Given the description of an element on the screen output the (x, y) to click on. 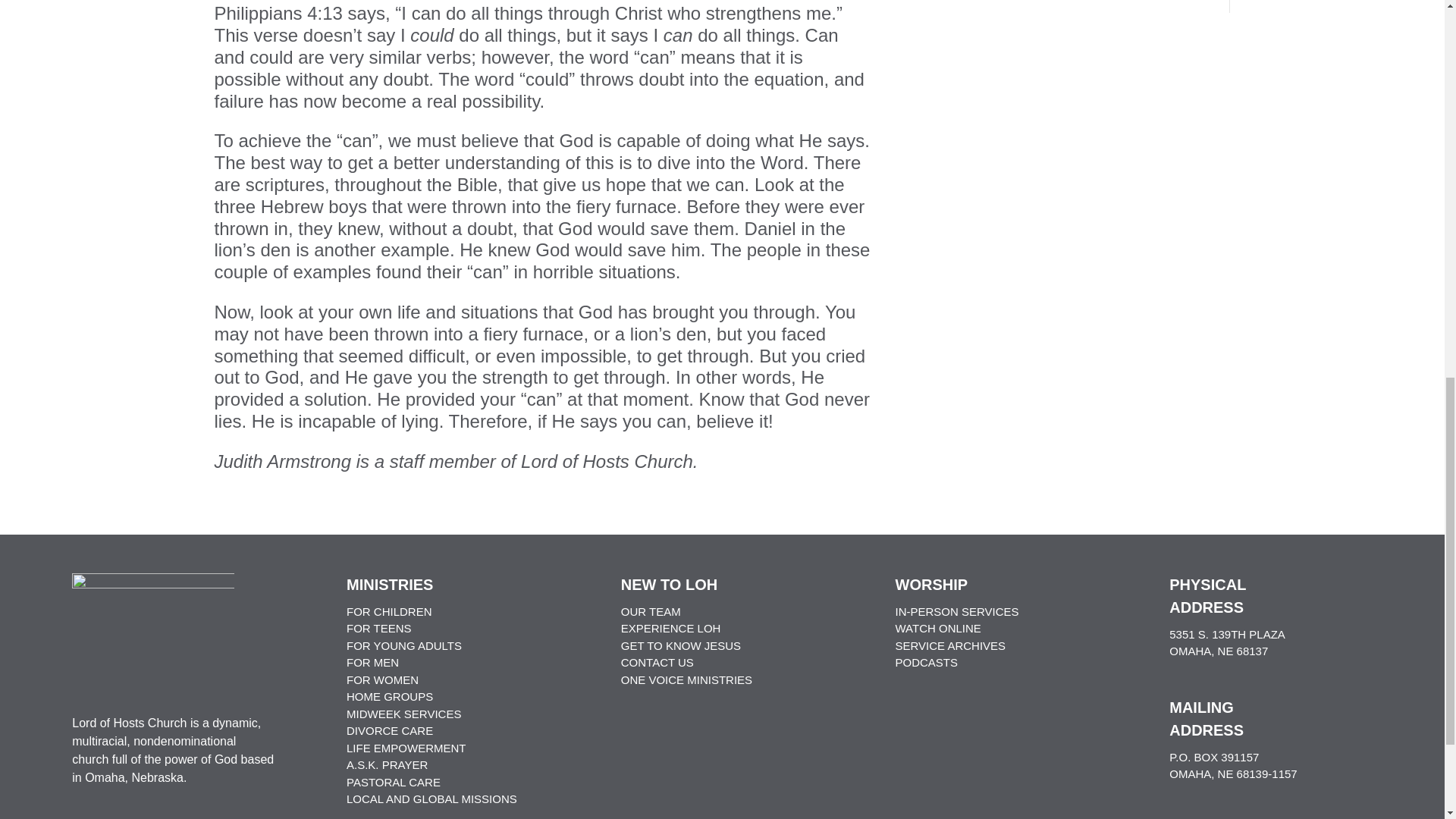
LOH-logo-white (152, 626)
